Given the description of an element on the screen output the (x, y) to click on. 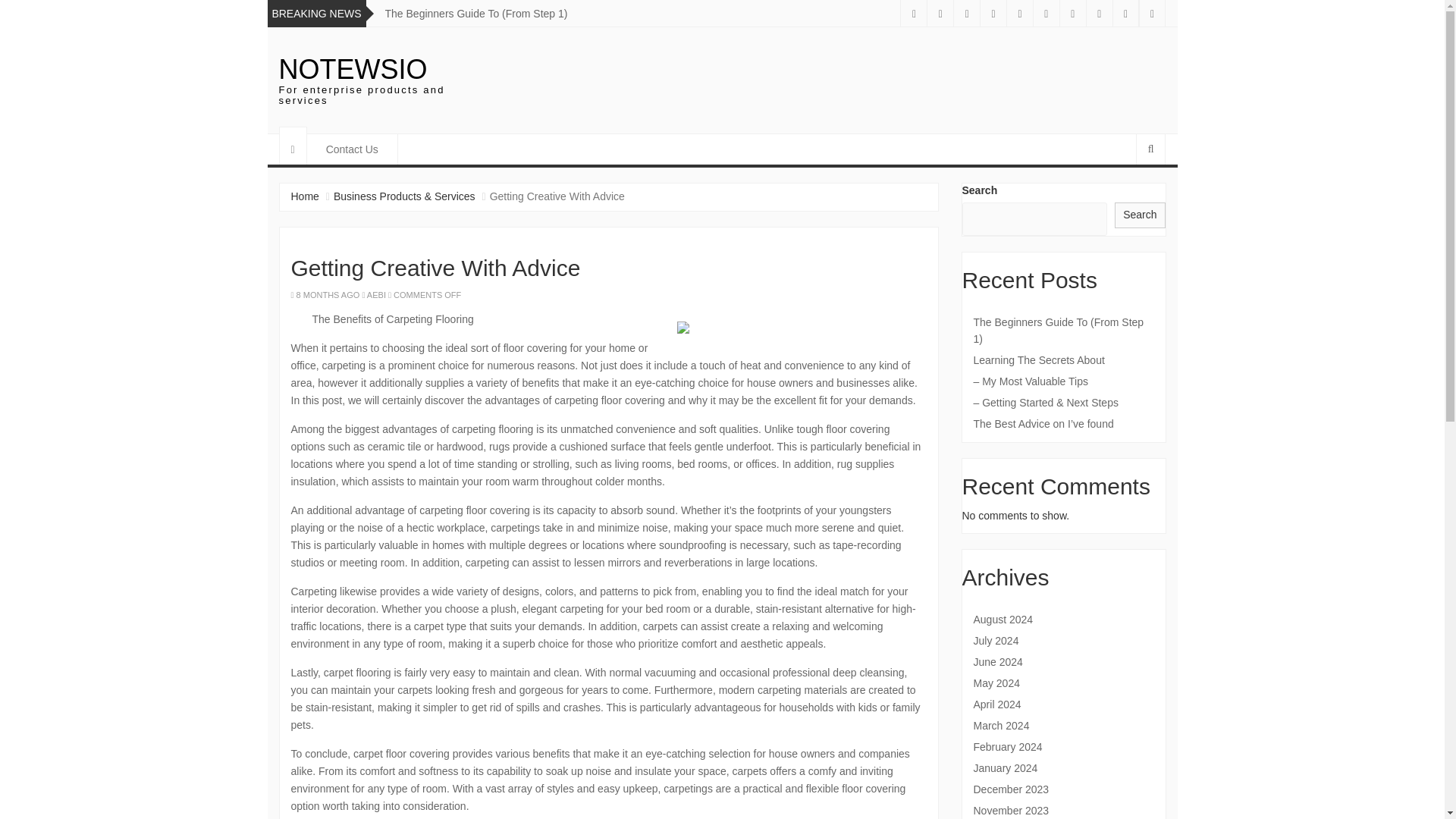
Contact Us (352, 149)
Home (304, 196)
Learning The Secrets About (1064, 360)
NOTEWSIO (353, 69)
Search (1139, 215)
